Given the description of an element on the screen output the (x, y) to click on. 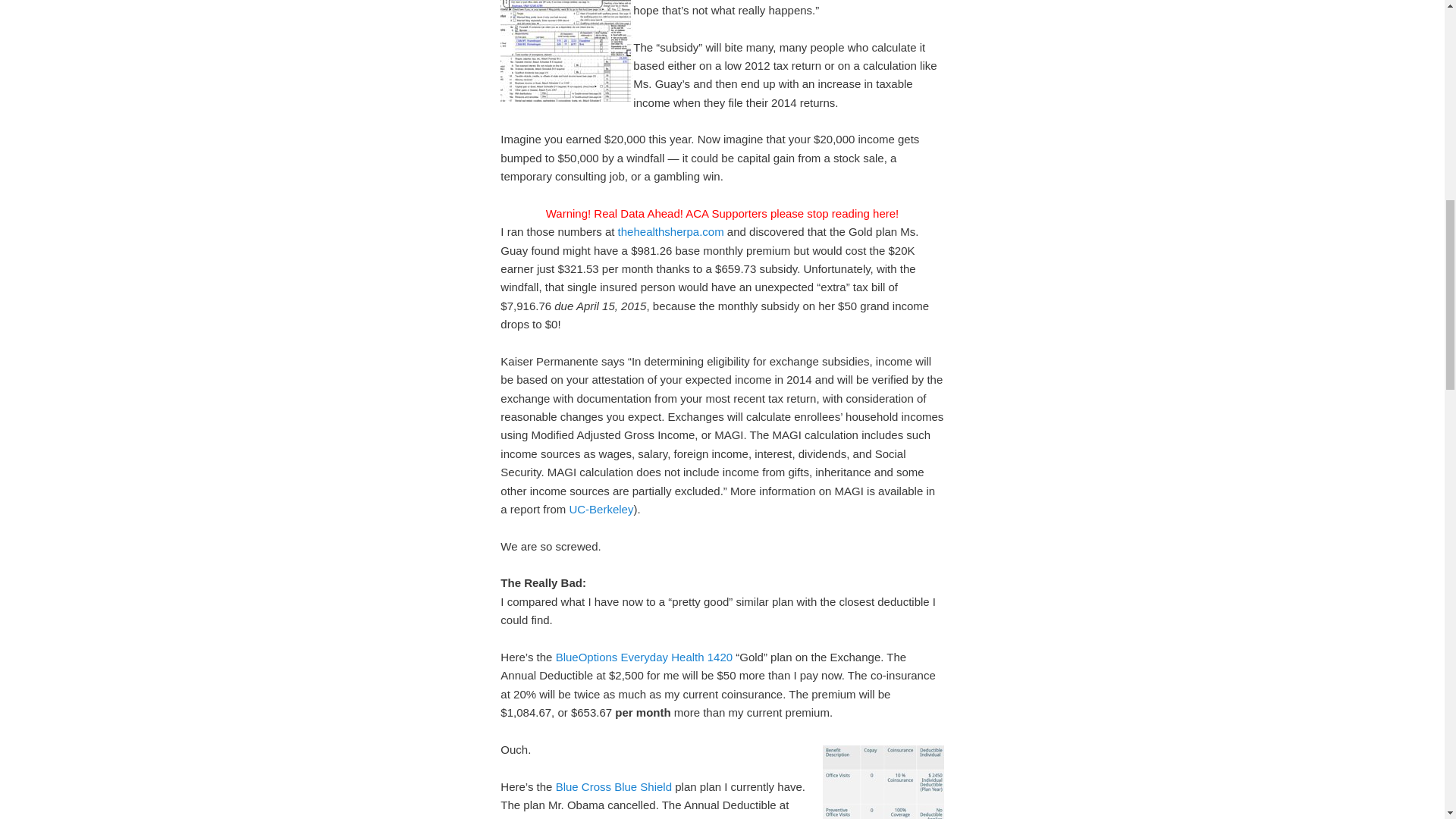
BlueOptions Everyday Health 1420 (644, 656)
UC-Berkeley (601, 508)
thehealthsherpa.com (670, 231)
My Current Blue Cross Blue Shield Plan (882, 782)
Blue Cross Blue Shield (613, 785)
